Given the description of an element on the screen output the (x, y) to click on. 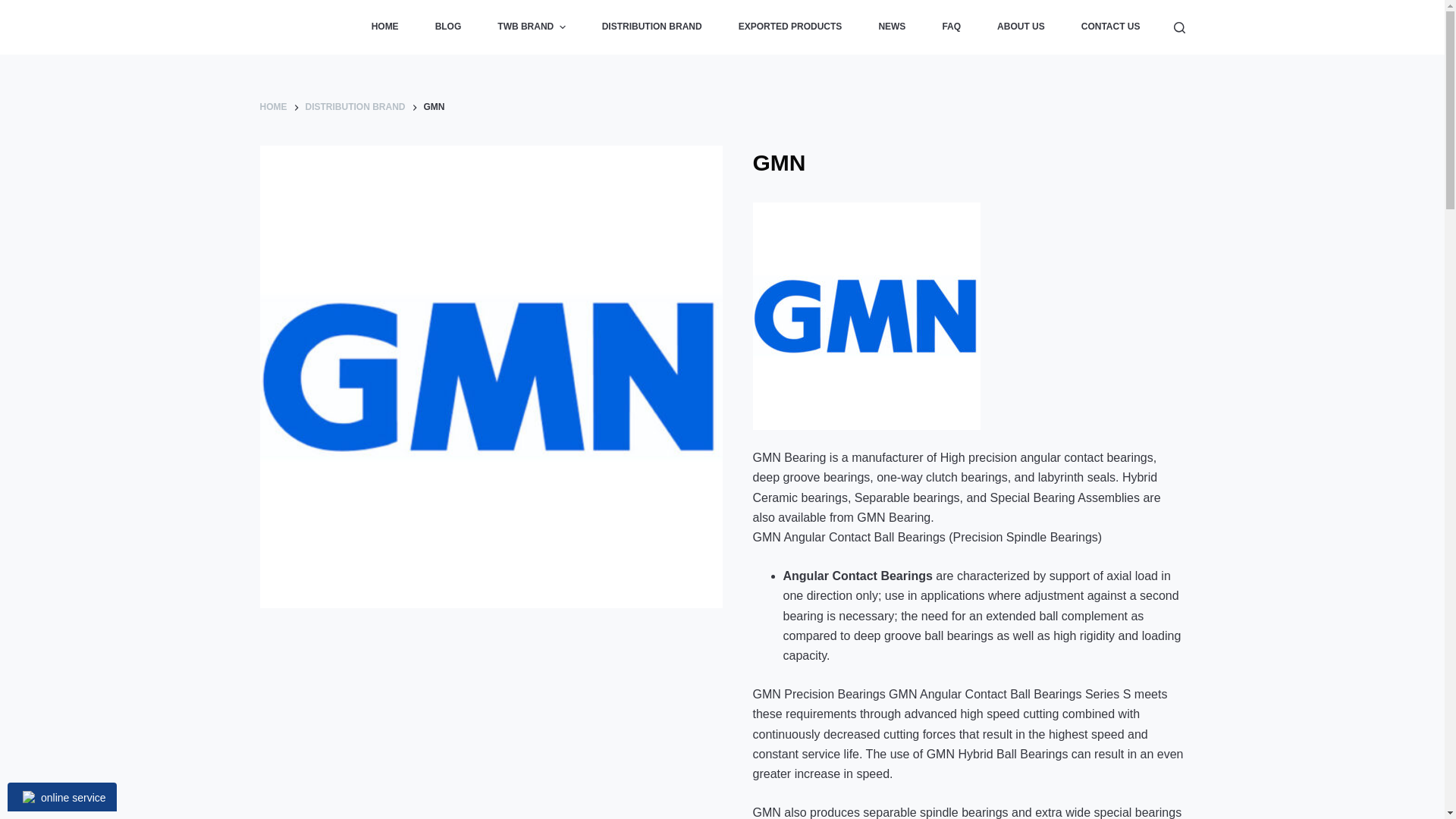
DISTRIBUTION BRAND (354, 107)
HOME (272, 107)
Skip to content (15, 7)
NEWS (891, 27)
EXPORTED PRODUCTS (790, 27)
HOME (384, 27)
DISTRIBUTION BRAND (651, 27)
TWB BRAND (531, 27)
ABOUT US (1020, 27)
FAQ (950, 27)
BLOG (448, 27)
CONTACT US (1110, 27)
